Given the description of an element on the screen output the (x, y) to click on. 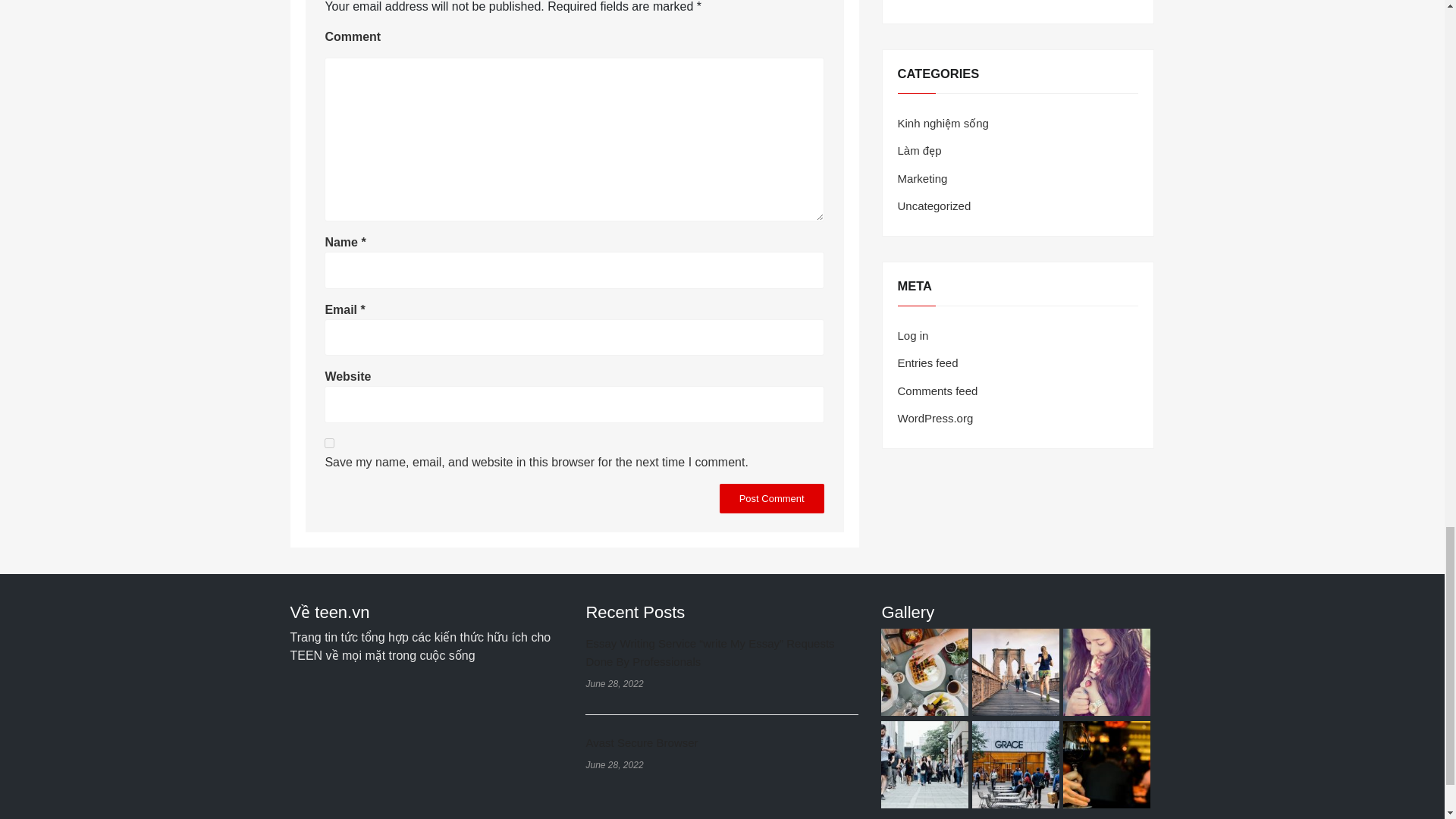
yes (329, 442)
Post Comment (771, 498)
